Given the description of an element on the screen output the (x, y) to click on. 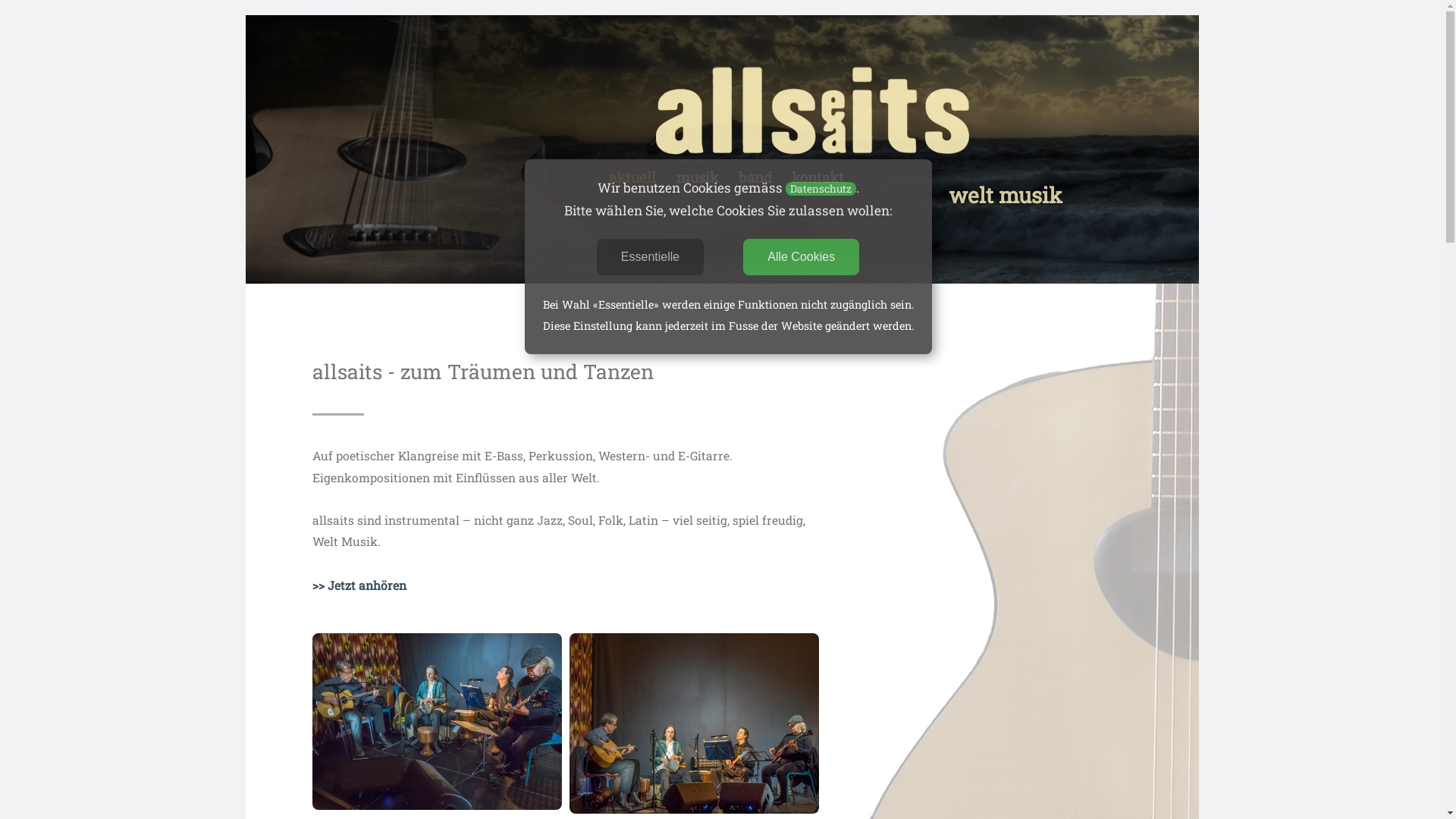
Datenschutz Element type: text (820, 188)
musik Element type: text (697, 177)
band Element type: text (755, 177)
kontakt Element type: text (817, 177)
Alle Cookies Element type: text (801, 256)
allsaits spielen Weltmusik oder eben World Music. Element type: hover (694, 808)
aktuell Element type: text (632, 177)
Essentielle Element type: text (649, 256)
